Given the description of an element on the screen output the (x, y) to click on. 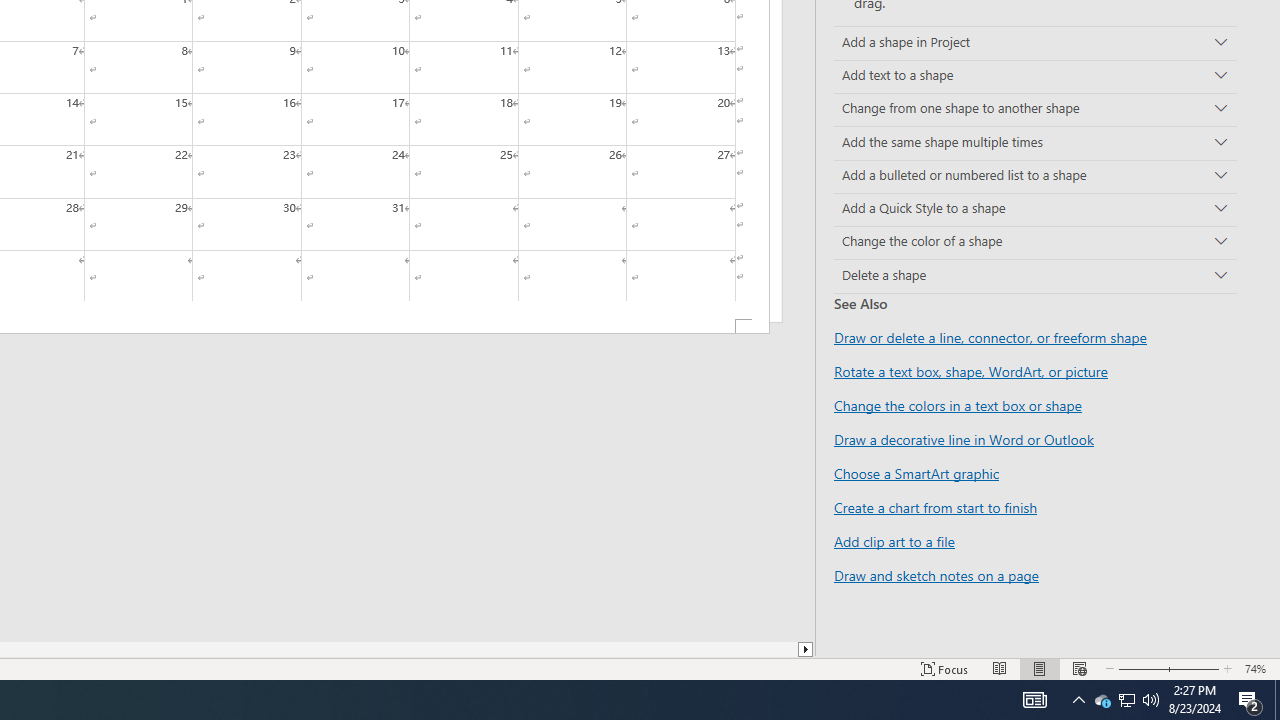
Print Layout (1039, 668)
Choose a SmartArt graphic (916, 473)
Add a Quick Style to a shape (1035, 209)
Column right (806, 649)
Zoom Out (1135, 668)
Change from one shape to another shape (1035, 109)
Zoom In (1188, 668)
Delete a shape (1035, 276)
Draw a decorative line in Word or Outlook (964, 439)
Add text to a shape (1035, 76)
Change the color of a shape (1035, 242)
Read Mode (1000, 668)
